Given the description of an element on the screen output the (x, y) to click on. 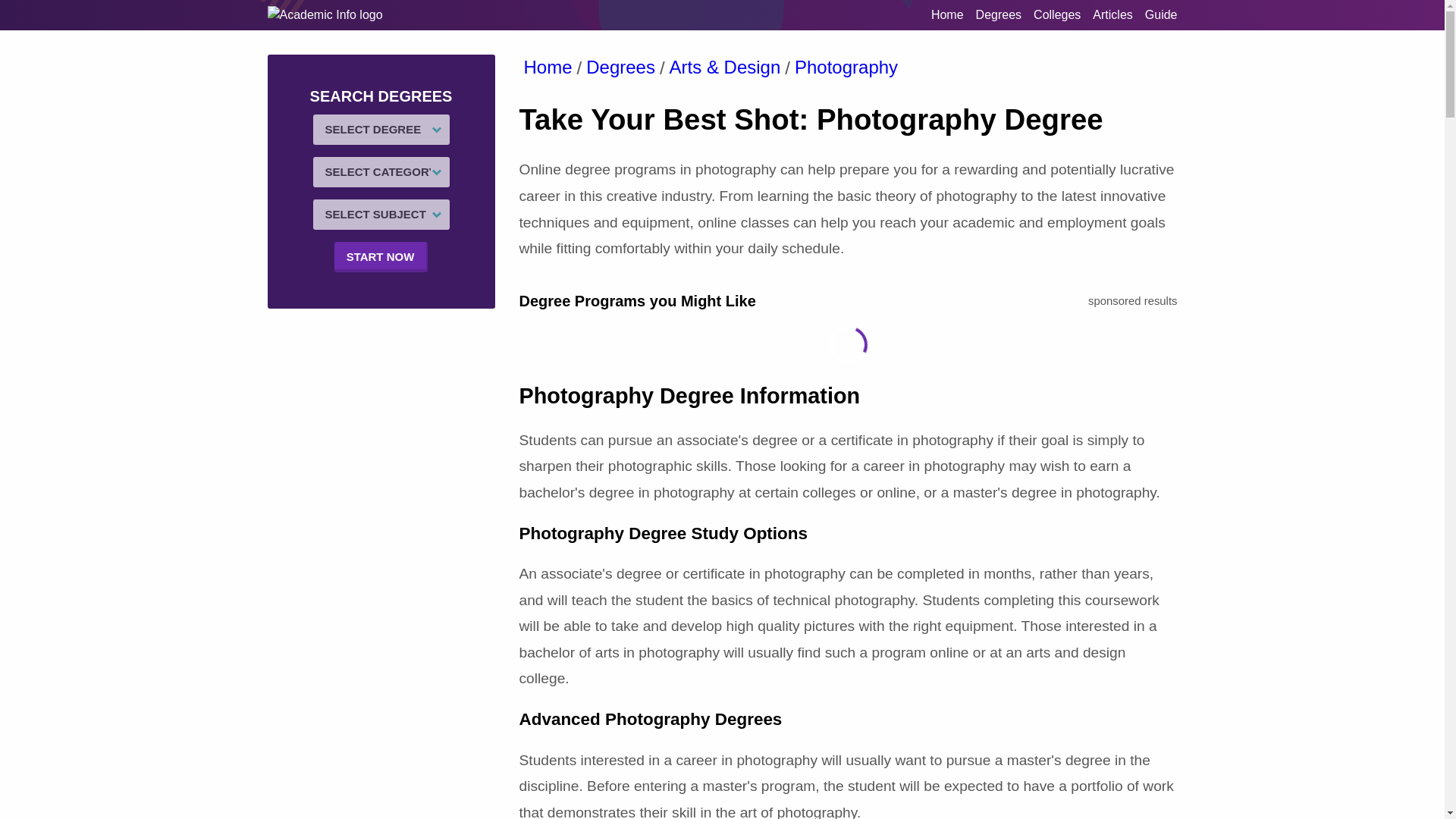
Articles (1112, 14)
Degrees (998, 14)
Colleges (1056, 14)
Photography (846, 66)
START NOW (381, 256)
Home (547, 66)
Home (947, 14)
Degrees (620, 66)
Guide (1160, 14)
